Given the description of an element on the screen output the (x, y) to click on. 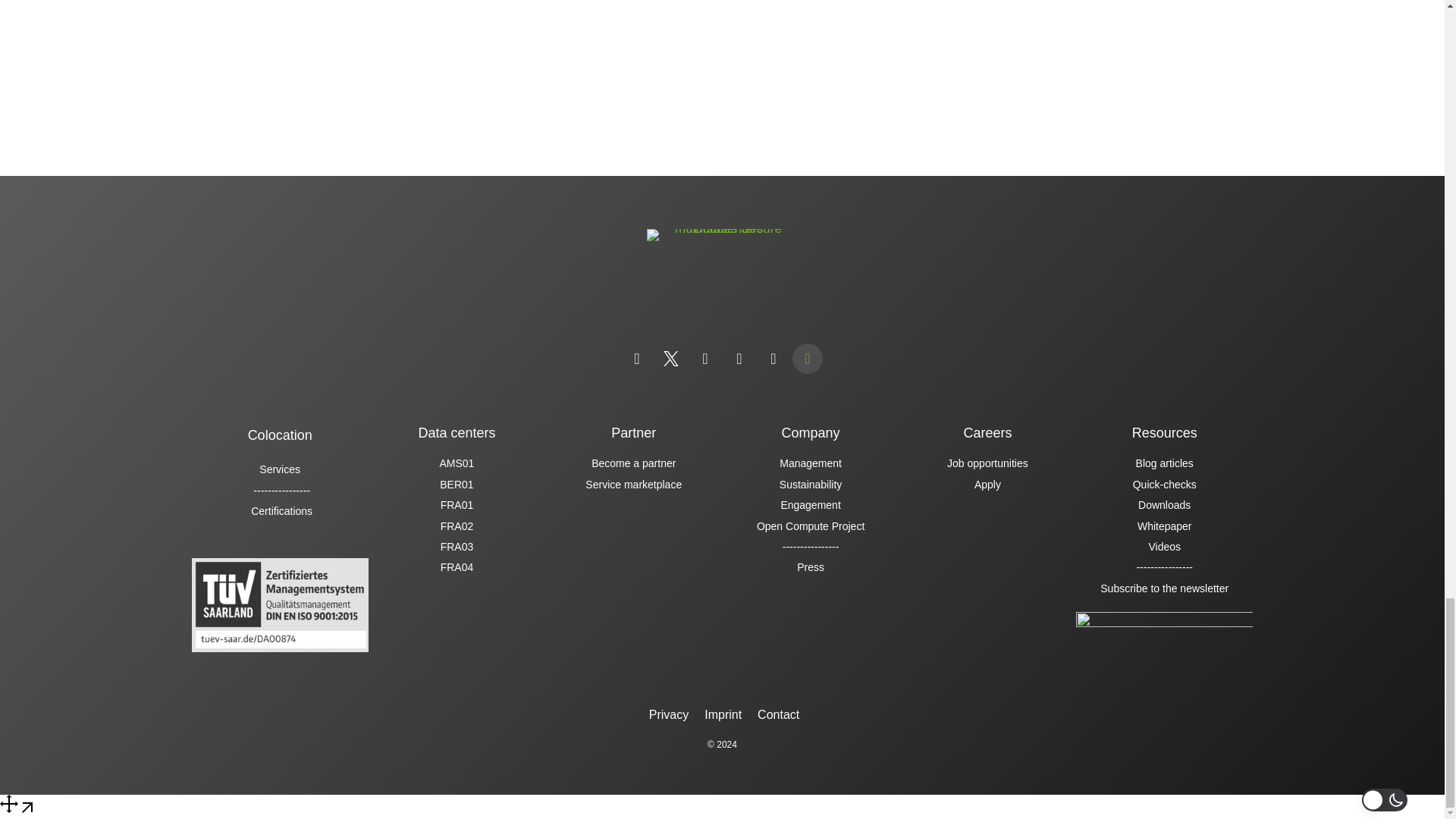
Service marketplace (633, 484)
FRA02 (456, 525)
Services (279, 469)
Data centers (456, 432)
FRA01 (456, 504)
FRA03 (456, 546)
FRA04 (456, 566)
AMS01 (456, 463)
Partner (633, 432)
Become a partner (633, 463)
Certifications (279, 510)
Colocation (280, 435)
BER01 (456, 484)
